Given the description of an element on the screen output the (x, y) to click on. 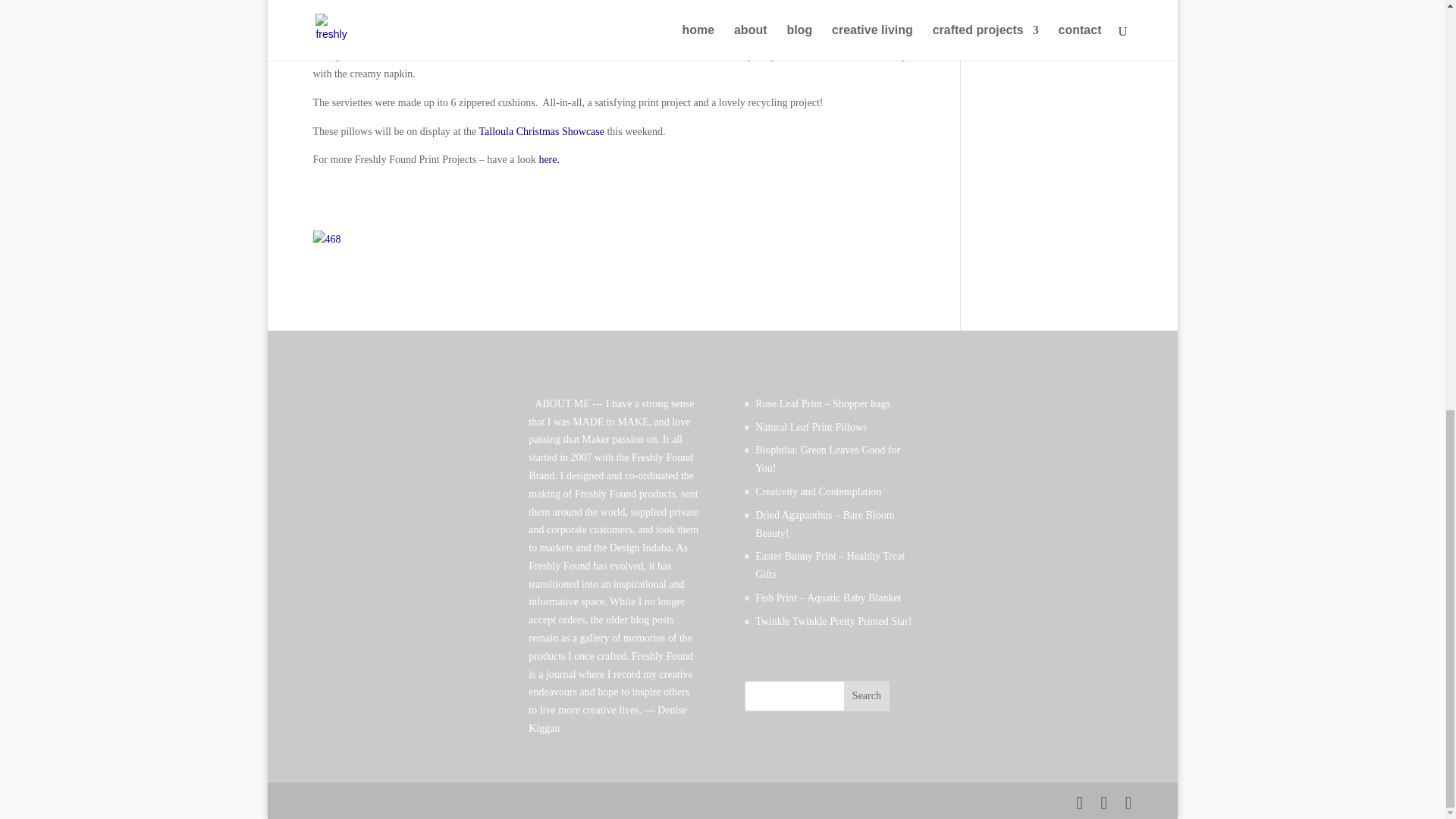
Natural Leaf Print Pillows (810, 427)
Creativity and Contemplation (817, 491)
Biophilia: Green Leaves Good for You! (827, 459)
here. (548, 159)
Search (866, 695)
Talloula Christmas Showcase (541, 131)
Twinkle Twinkle Pretty Printed Star! (833, 621)
Search (866, 695)
